Given the description of an element on the screen output the (x, y) to click on. 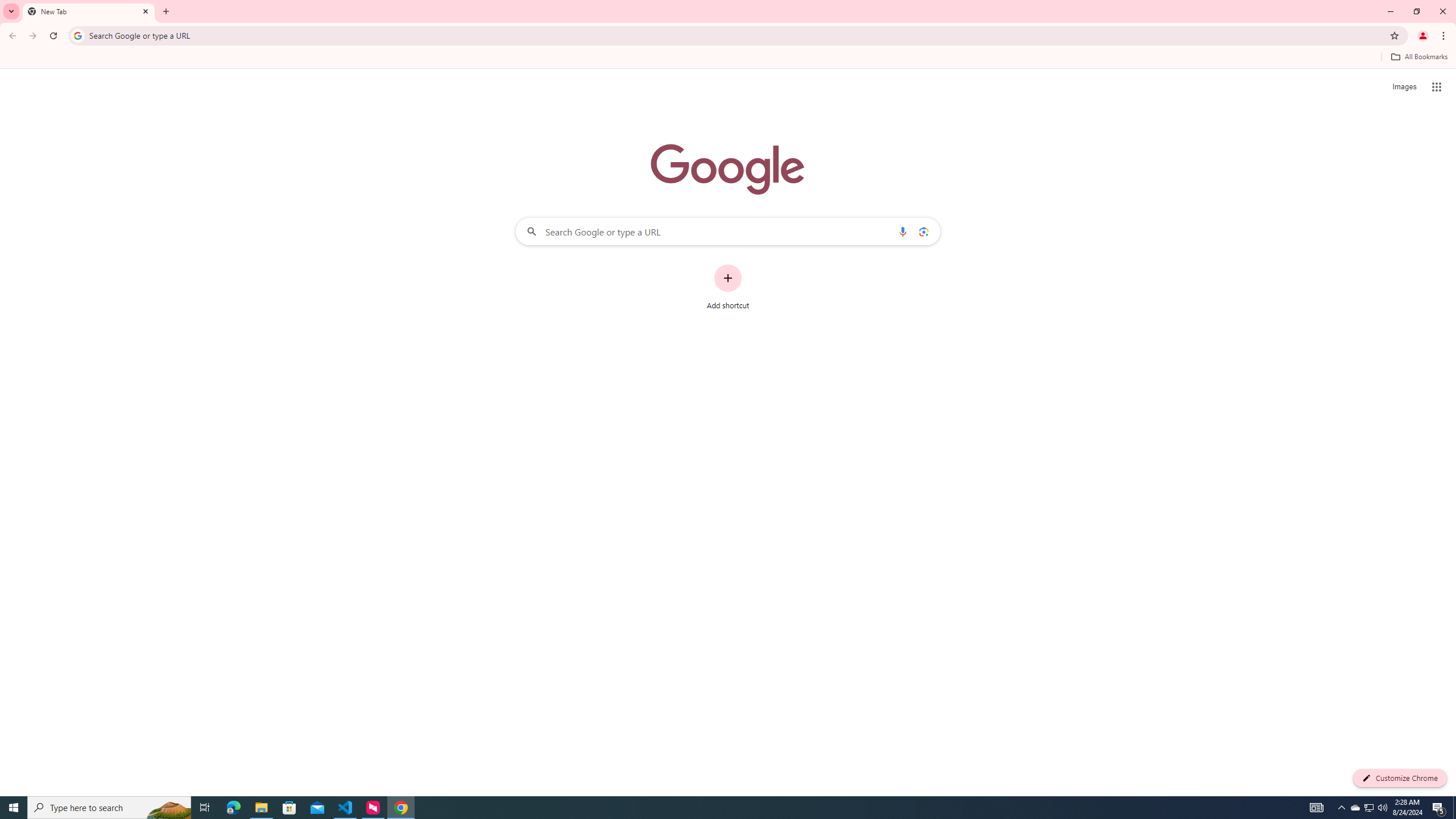
Customize Chrome (1399, 778)
Bookmarks (728, 58)
Add shortcut (727, 287)
New Tab (88, 11)
Search by voice (902, 230)
